Given the description of an element on the screen output the (x, y) to click on. 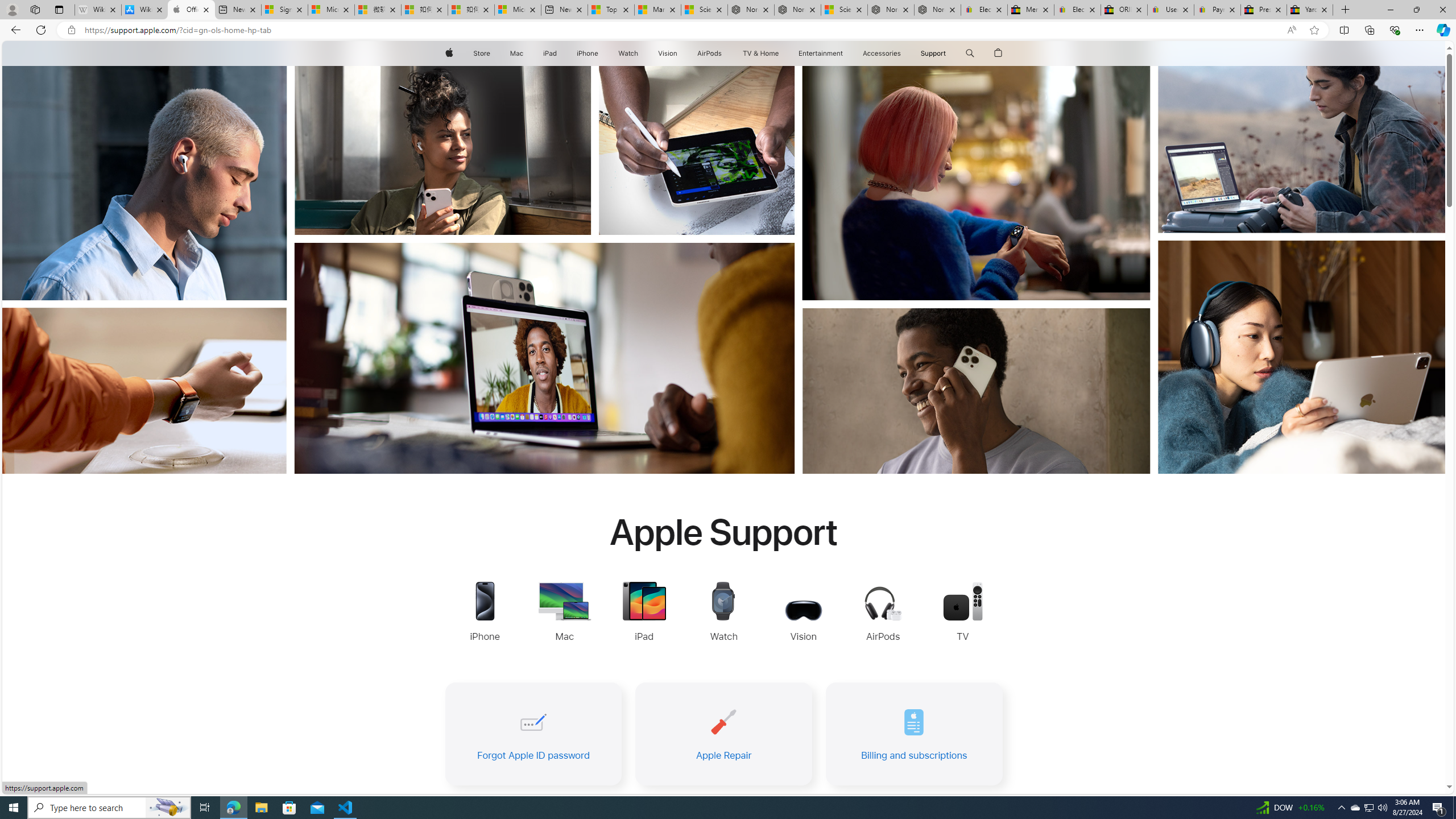
Billing and subscriptions (914, 734)
iPhone Support (484, 612)
iPad Support (643, 612)
Apple Watch Support (724, 612)
Mac Support (564, 612)
